Given the description of an element on the screen output the (x, y) to click on. 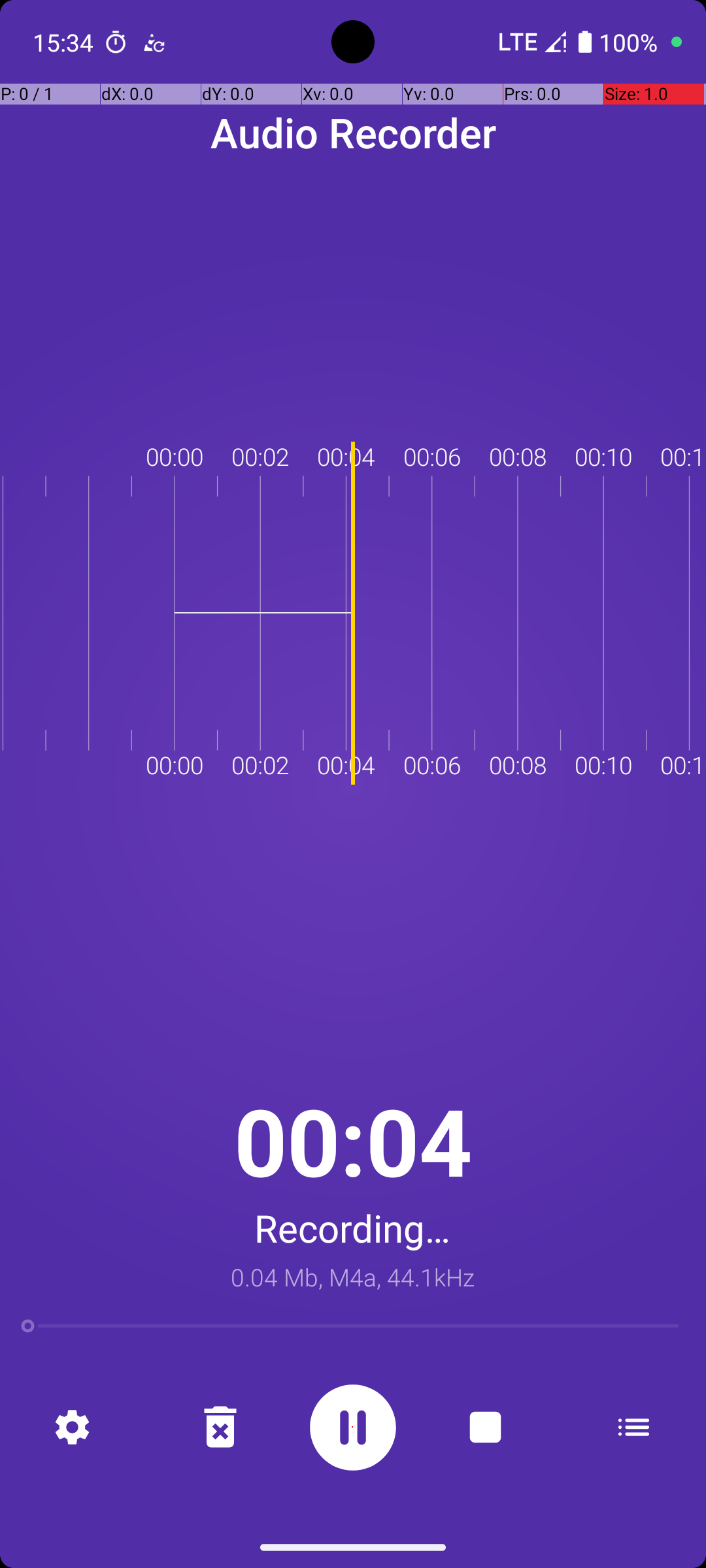
00:04 Element type: android.widget.TextView (352, 1140)
Recording… Element type: android.widget.TextView (352, 1227)
0.04 Mb, M4a, 44.1kHz Element type: android.widget.TextView (352, 1276)
Recording: %s Element type: android.widget.ImageButton (352, 1427)
VLC notification: Scanning for media files Element type: android.widget.ImageView (153, 41)
